Given the description of an element on the screen output the (x, y) to click on. 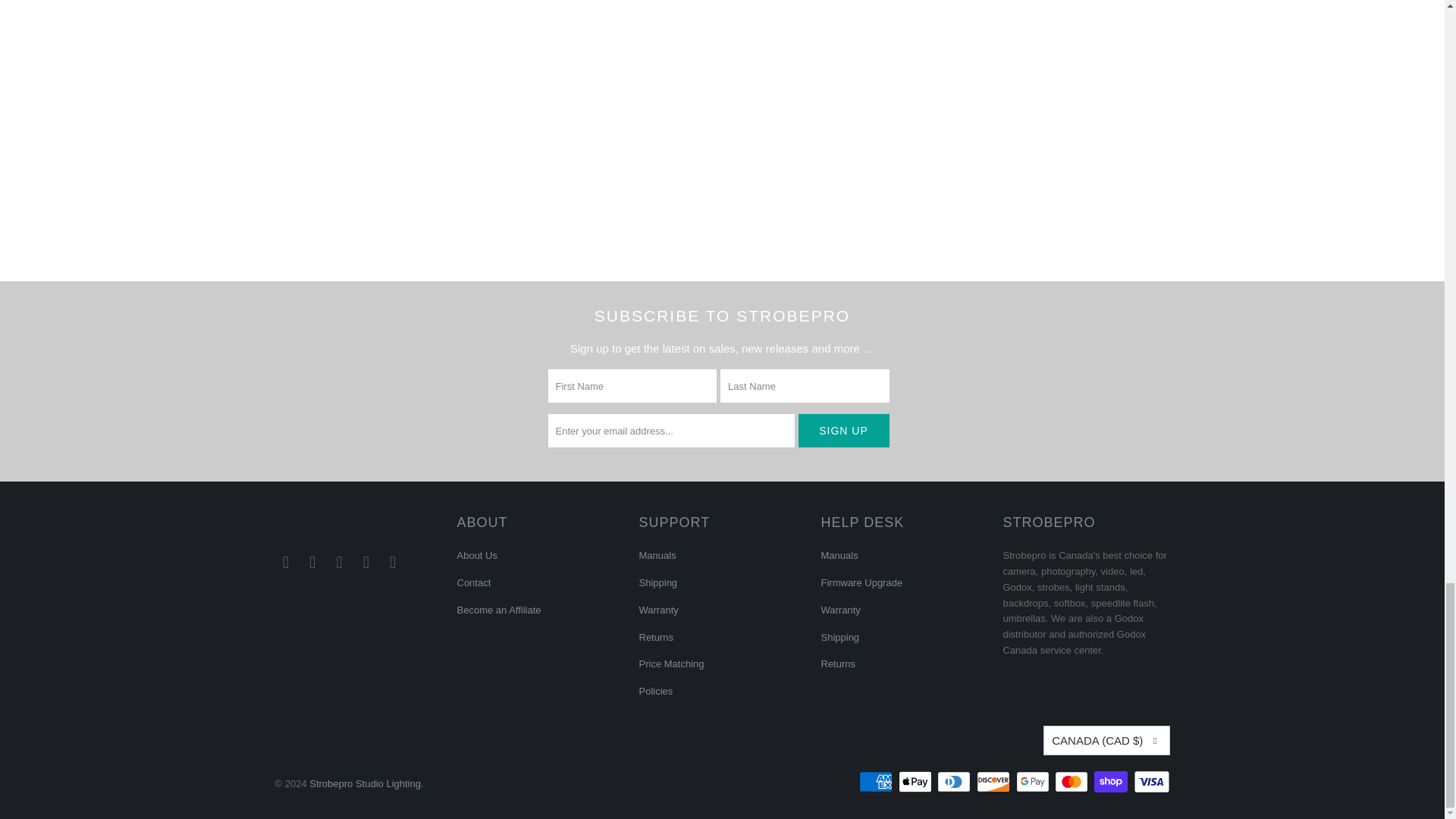
Shop Pay (1112, 781)
Visa (1150, 781)
Diners Club (955, 781)
American Express (877, 781)
Apple Pay (916, 781)
Discover (994, 781)
Google Pay (1034, 781)
Sign Up (842, 430)
Mastercard (1072, 781)
